Given the description of an element on the screen output the (x, y) to click on. 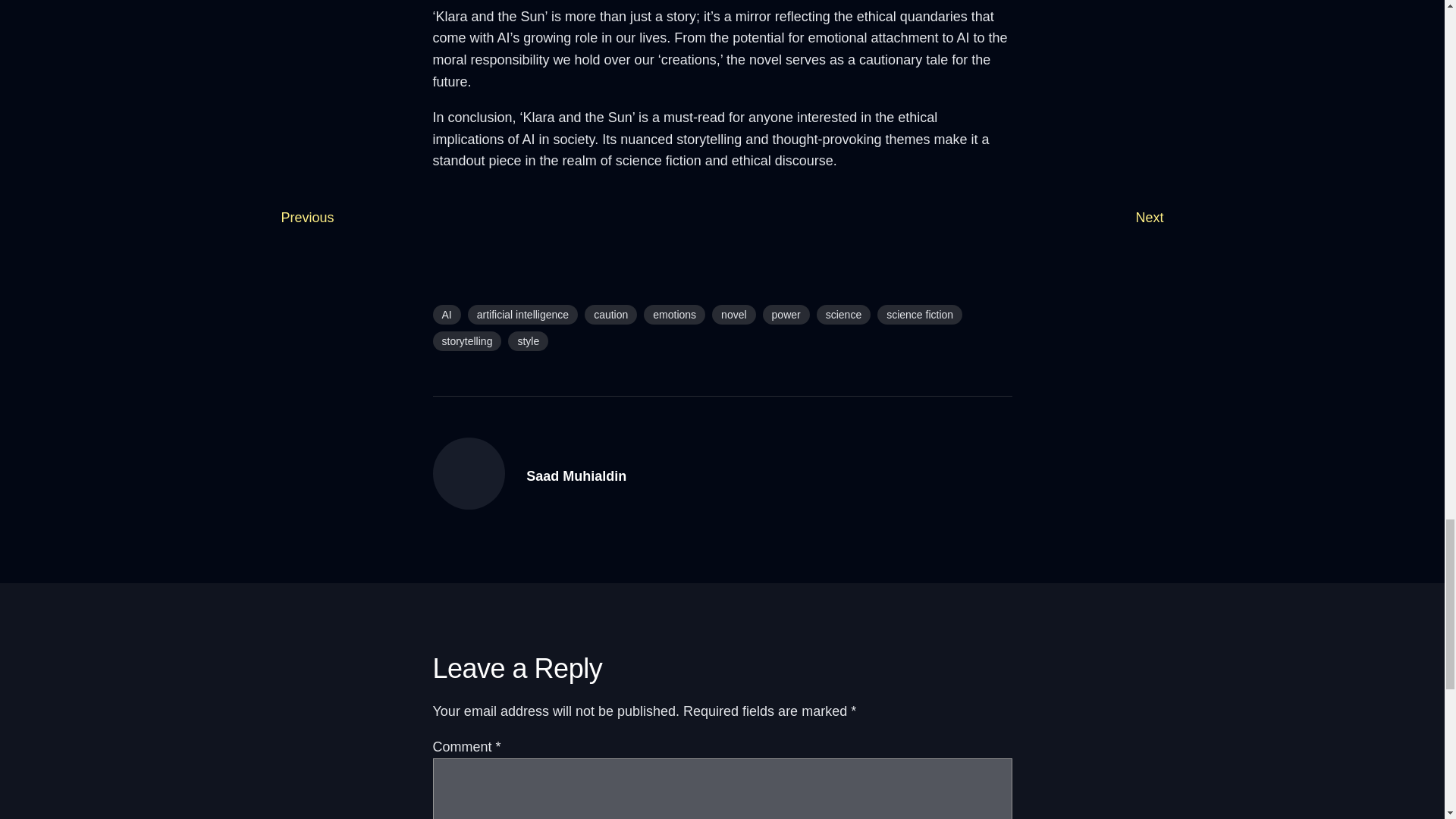
Previous (307, 217)
artificial intelligence (522, 314)
science fiction (919, 314)
AI (446, 314)
emotions (673, 314)
power (785, 314)
Next (1149, 217)
science (843, 314)
style (528, 341)
caution (611, 314)
